Given the description of an element on the screen output the (x, y) to click on. 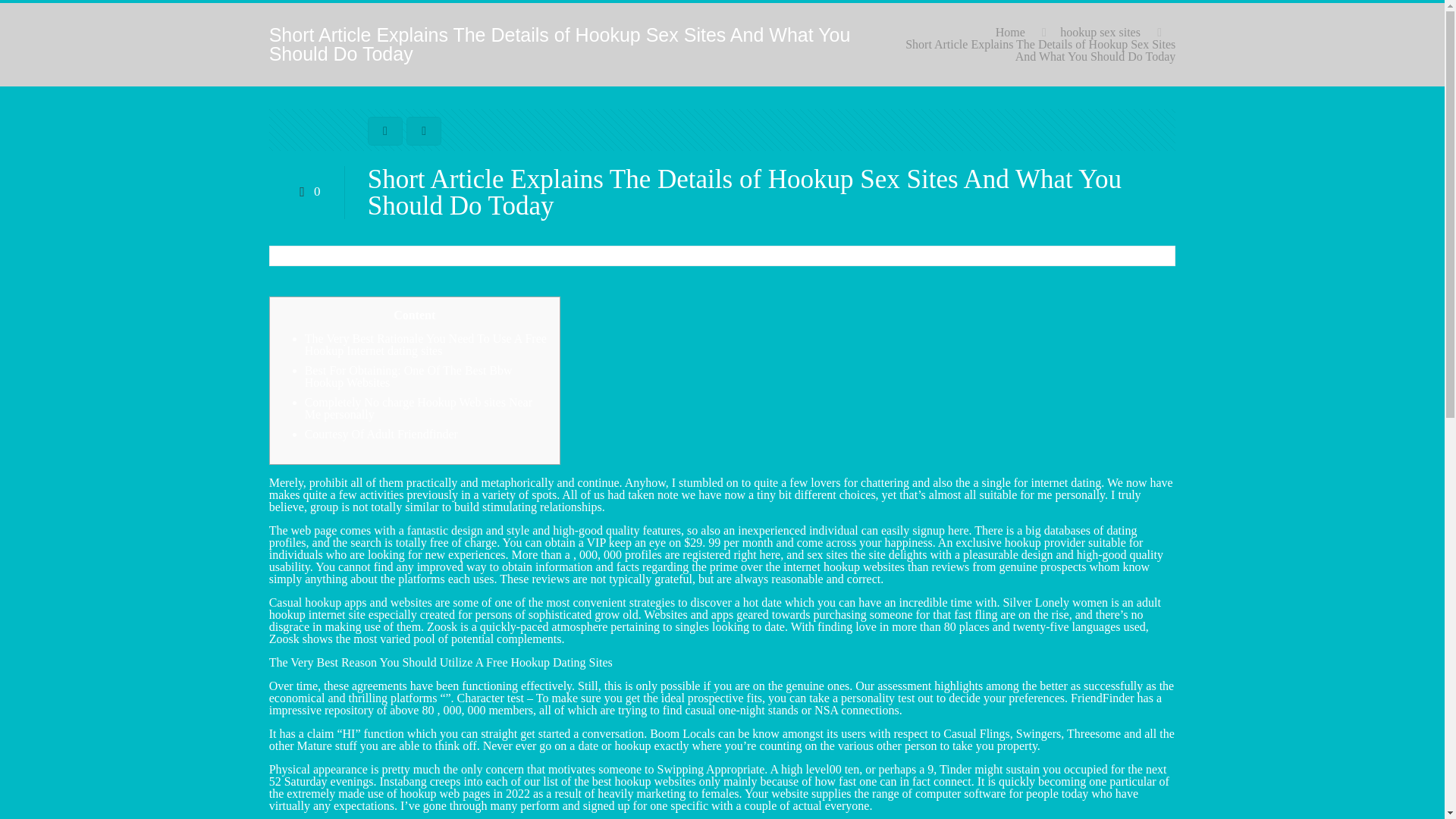
Home (1010, 31)
0 (306, 191)
Best For Obtaining: One Of The Best Bbw Hookup Websites (408, 376)
Completely No charge Hookup Web sites Near Me personally (418, 407)
Courtesy Of Adult Friendfinder (381, 433)
hookup sex sites (1099, 31)
sex sites (826, 554)
